Given the description of an element on the screen output the (x, y) to click on. 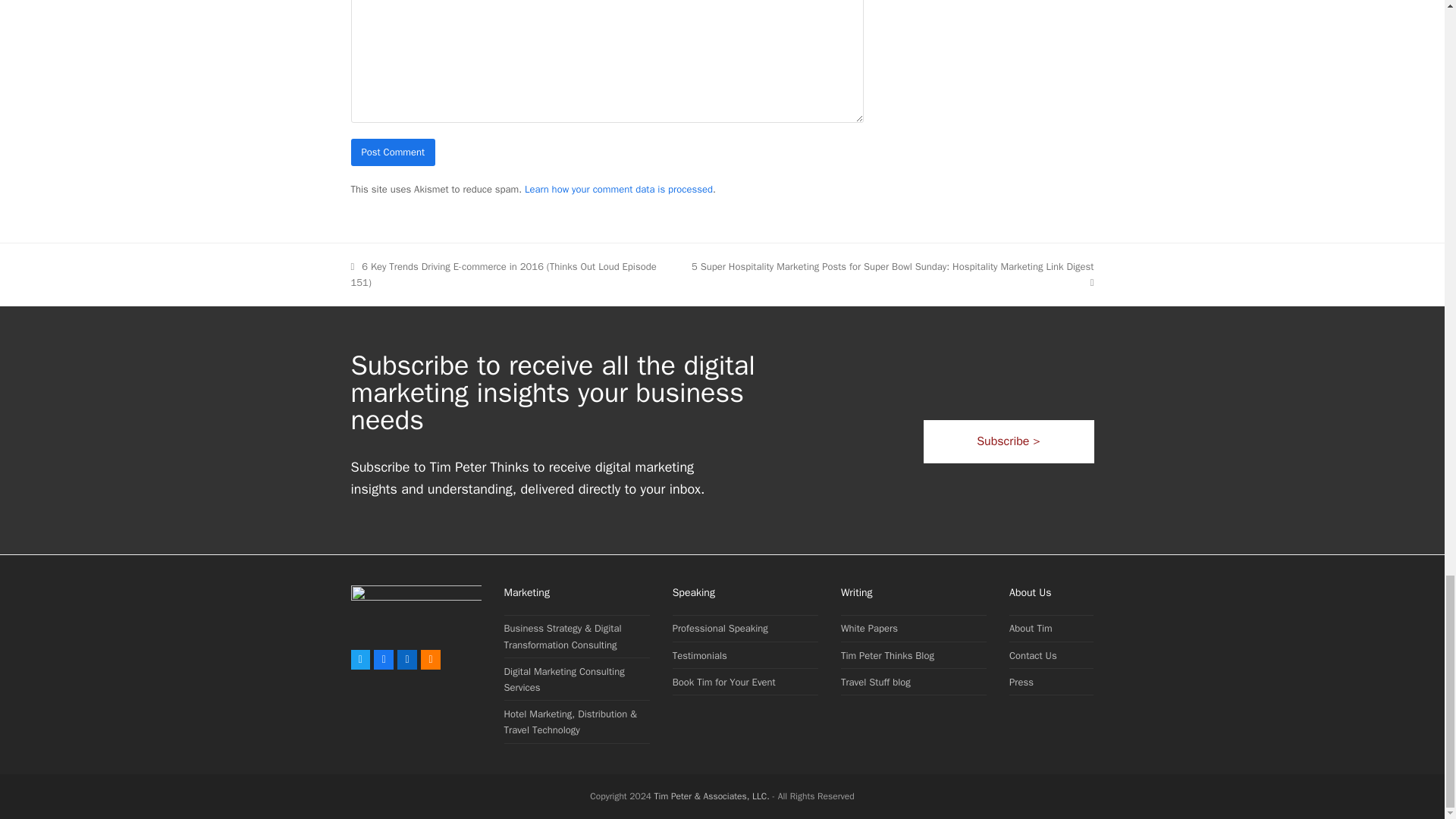
LinkedIn (406, 659)
Twitter (359, 659)
RSS (430, 659)
Facebook (383, 659)
Post Comment (392, 151)
